Given the description of an element on the screen output the (x, y) to click on. 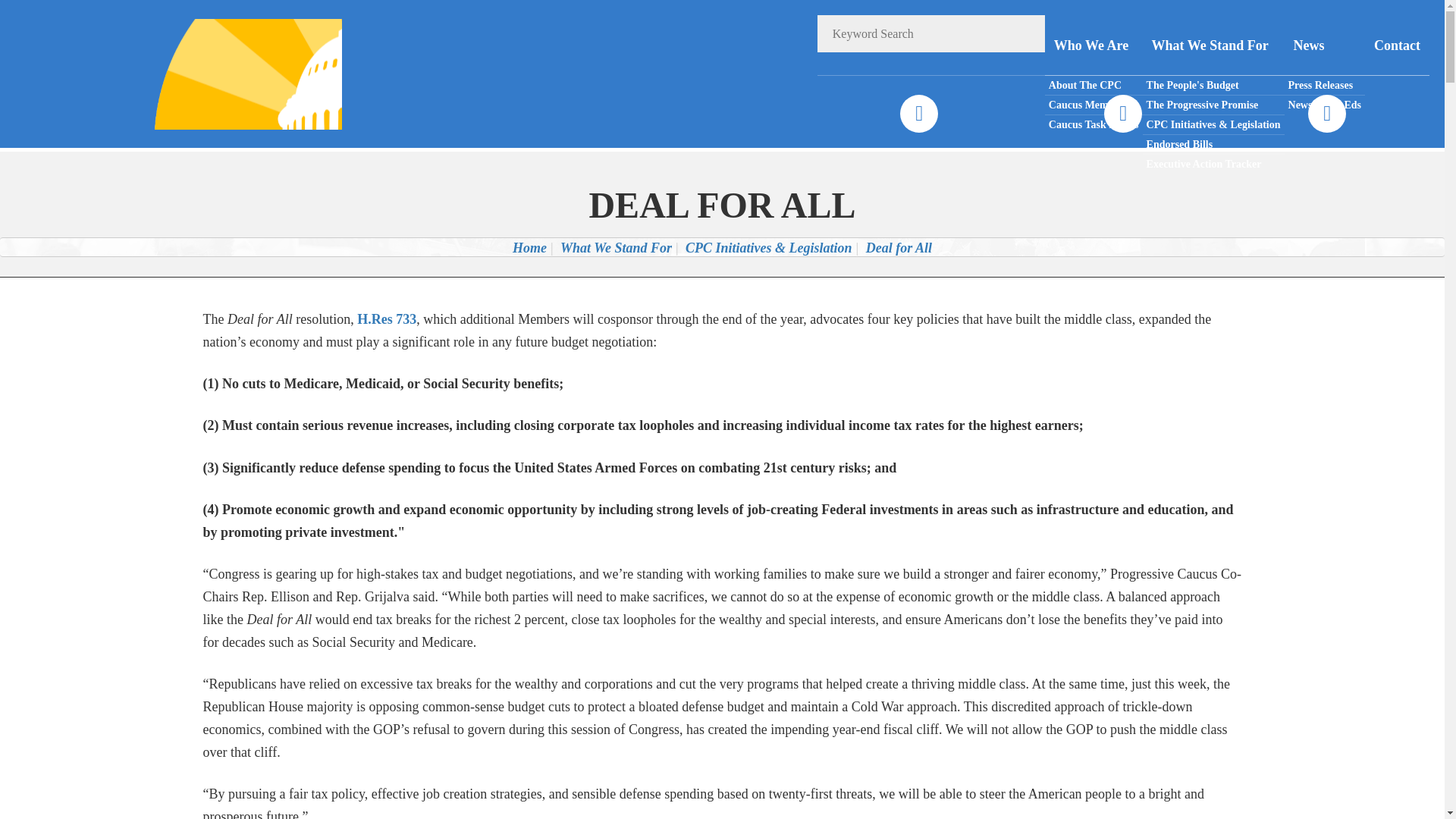
Deal for All (898, 247)
What We Stand For (1213, 45)
The People's Budget (1213, 85)
Twitter (1122, 113)
The Progressive Promise (1213, 105)
Endorsed Bills (1213, 144)
Caucus Task Forces (1093, 124)
Home (529, 247)
Who We Are (1093, 45)
About The CPC (1093, 85)
